Given the description of an element on the screen output the (x, y) to click on. 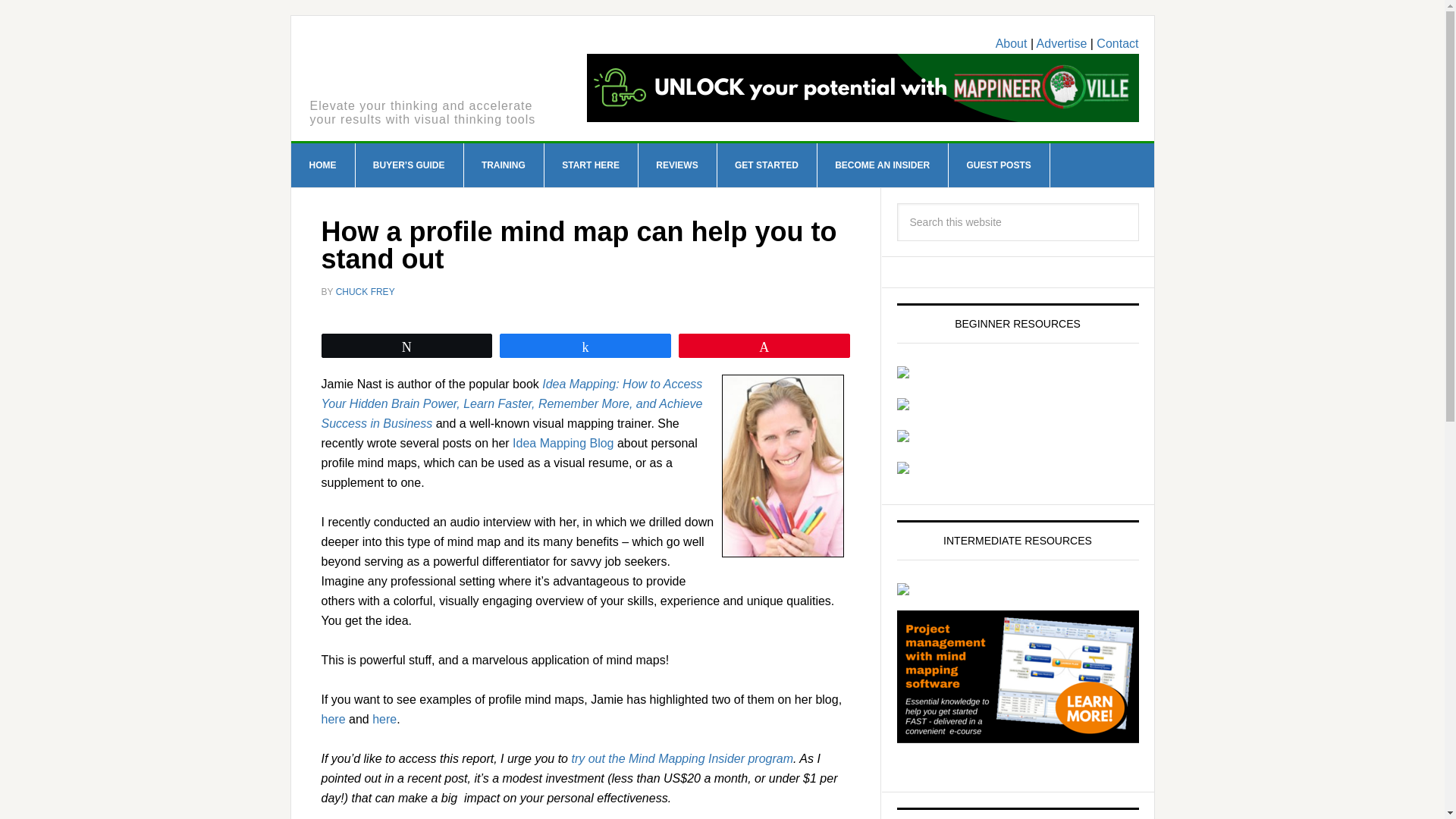
TRAINING (503, 165)
Contact (1117, 42)
MIND MAPPING SOFTWARE BLOG (405, 65)
jamienast (783, 465)
GUEST POSTS (998, 165)
REVIEWS (676, 165)
HOME (323, 165)
CHUCK FREY (365, 291)
try out the Mind Mapping Insider program (681, 758)
Idea Mapping Blog (562, 442)
BECOME AN INSIDER (882, 165)
START HERE (591, 165)
Advertise (1061, 42)
About (1011, 42)
